Given the description of an element on the screen output the (x, y) to click on. 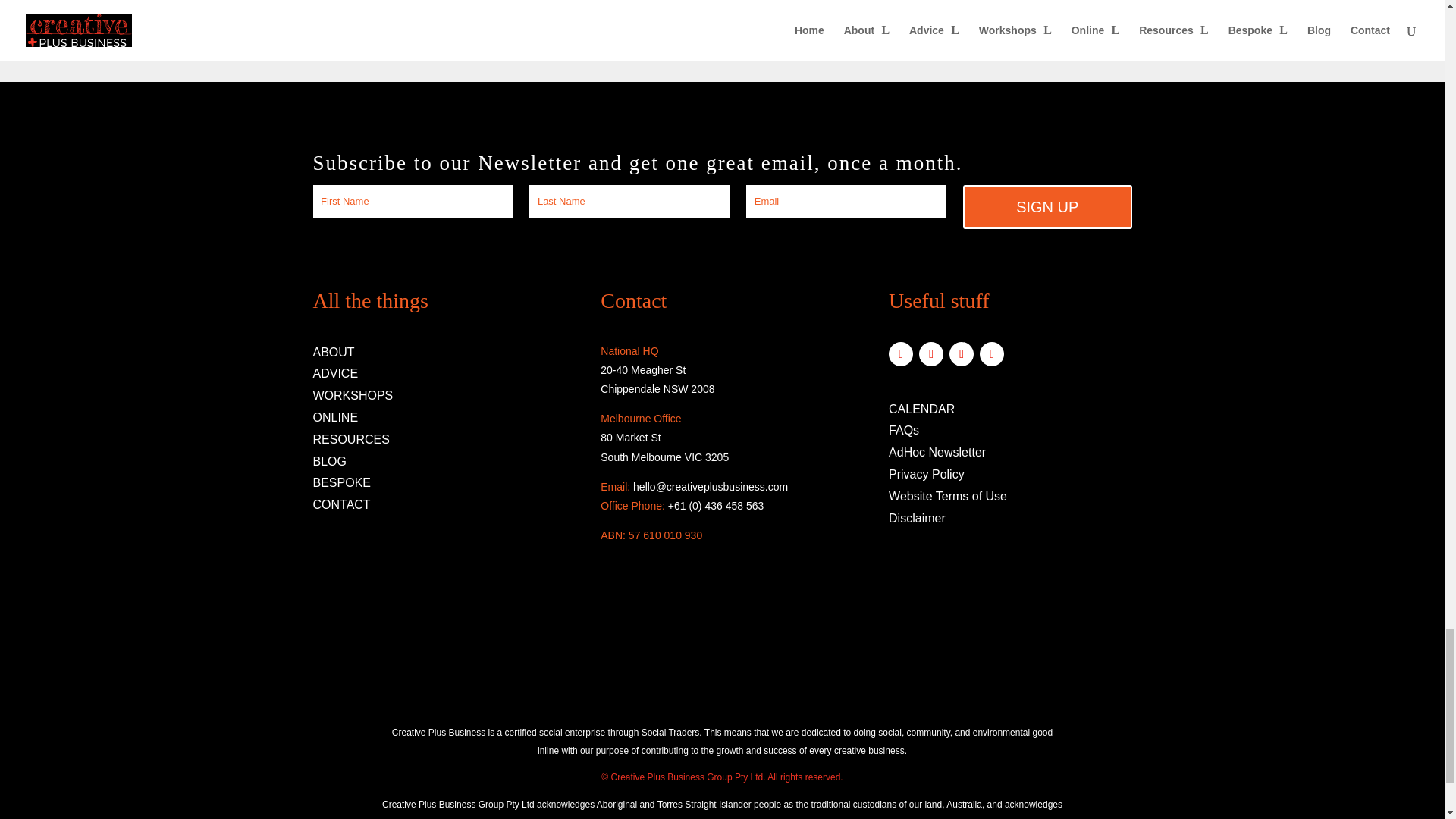
Follow on Facebook (900, 354)
Follow on Instagram (930, 354)
